Given the description of an element on the screen output the (x, y) to click on. 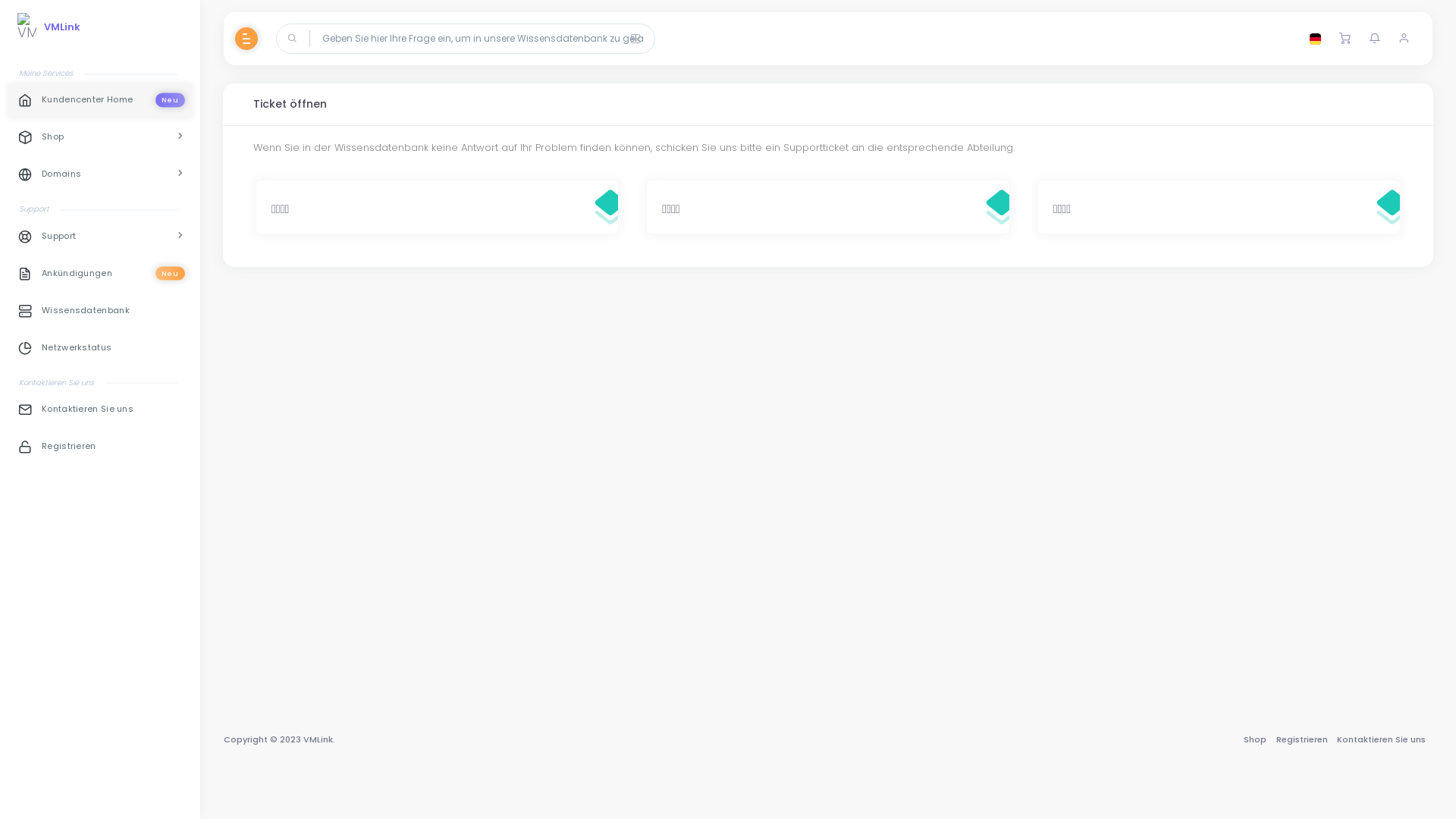
Wissensdatenbank Element type: text (99, 311)
Netzwerkstatus Element type: text (99, 348)
Kontaktieren Sie uns Element type: text (99, 409)
Registrieren Element type: text (99, 446)
Login Element type: text (1354, 212)
Domains Element type: text (99, 174)
VMLink Element type: text (48, 26)
Shop Element type: text (99, 137)
Shop Element type: text (1254, 739)
Kontaktieren Sie uns Element type: text (1380, 739)
Support Element type: text (99, 236)
Registrieren Element type: text (1301, 739)
Kundencenter Home
Neu Element type: text (99, 100)
